Given the description of an element on the screen output the (x, y) to click on. 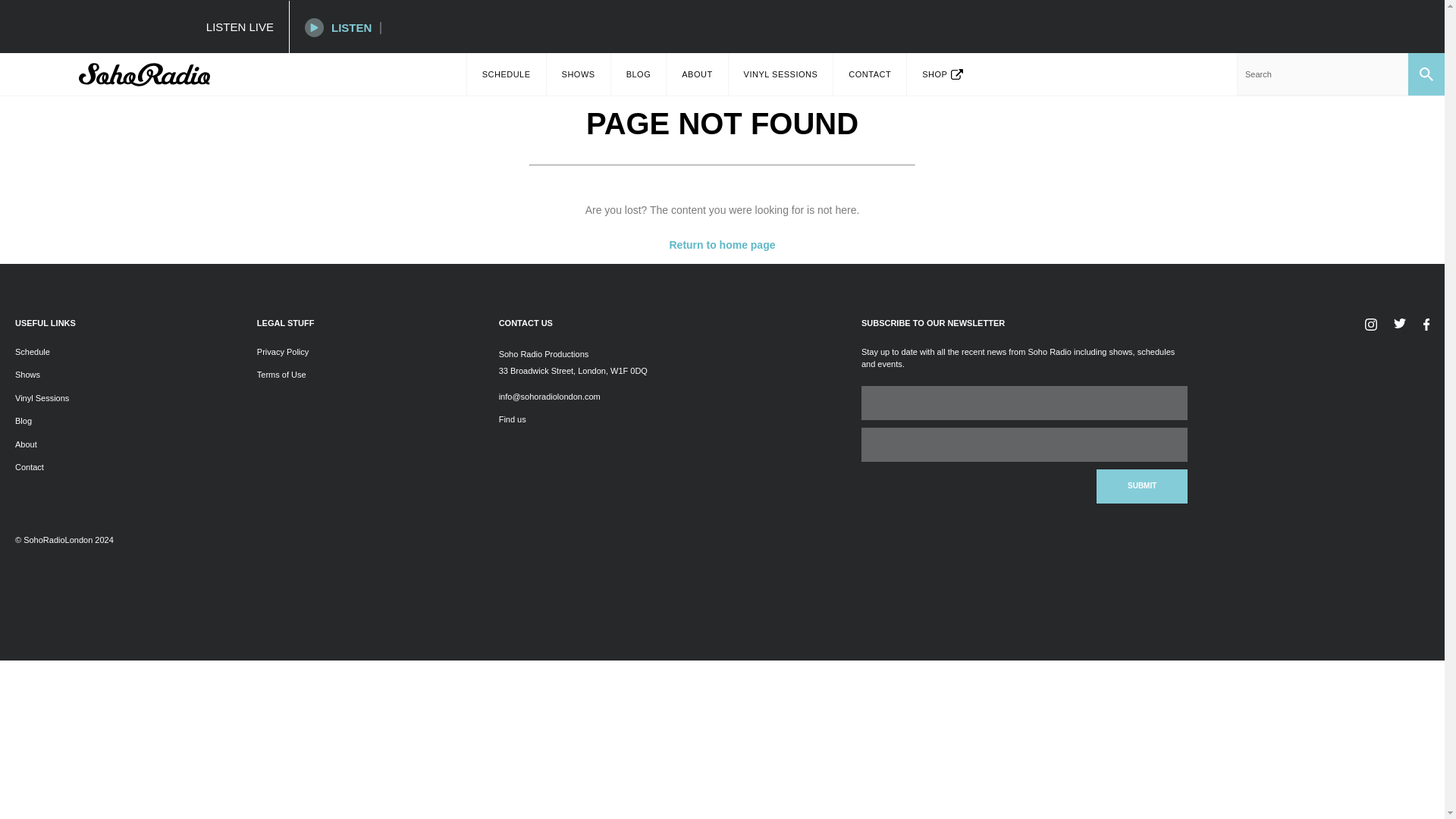
SHOWS (578, 74)
BLOG (638, 74)
VINYL SESSIONS (780, 74)
SCHEDULE (506, 74)
Vinyl Sessions (41, 397)
Search (1321, 74)
Shows (27, 374)
Terms of Use (281, 374)
Privacy Policy (282, 351)
Contact (28, 466)
